Given the description of an element on the screen output the (x, y) to click on. 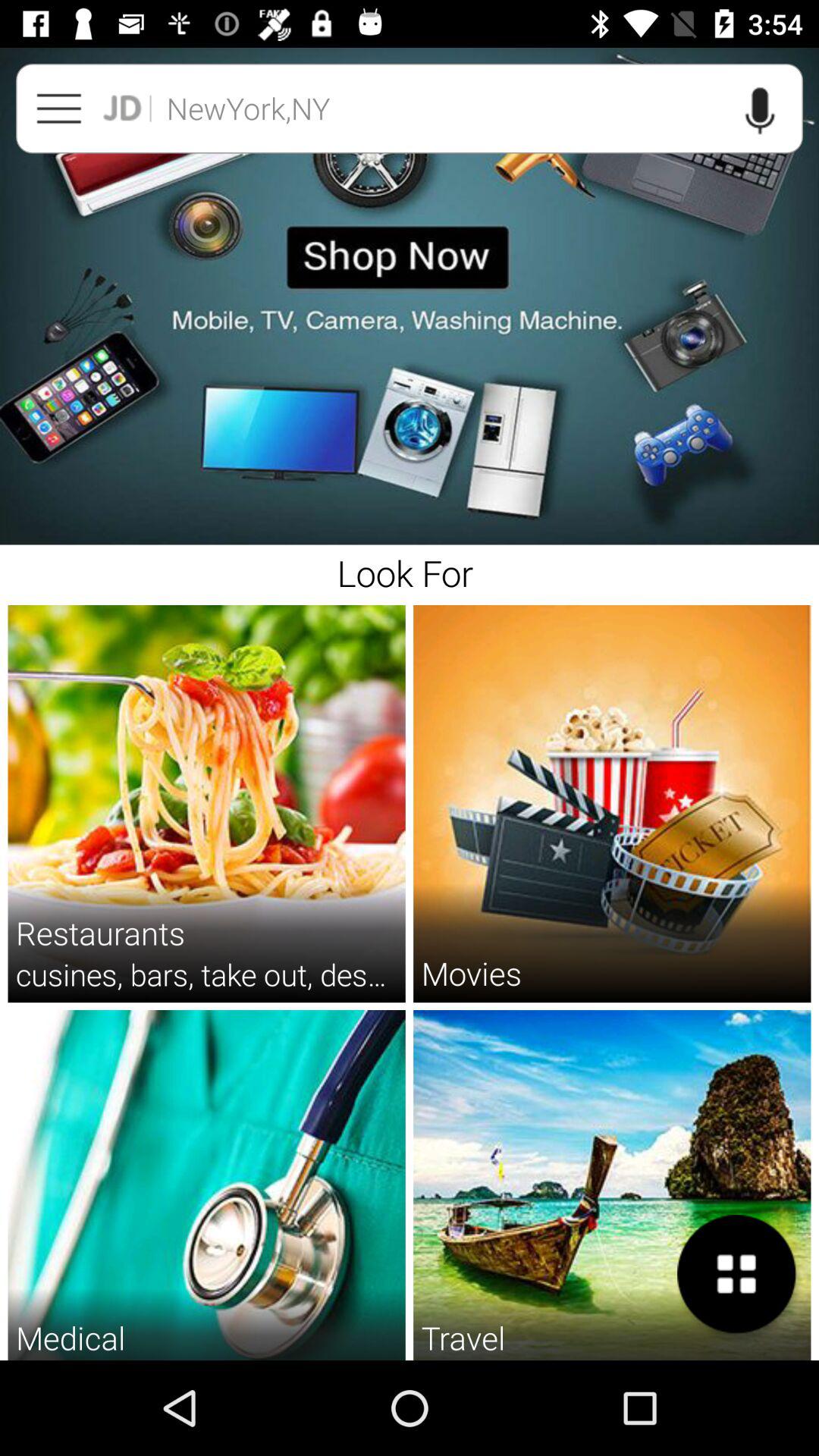
flip to travel item (463, 1337)
